Given the description of an element on the screen output the (x, y) to click on. 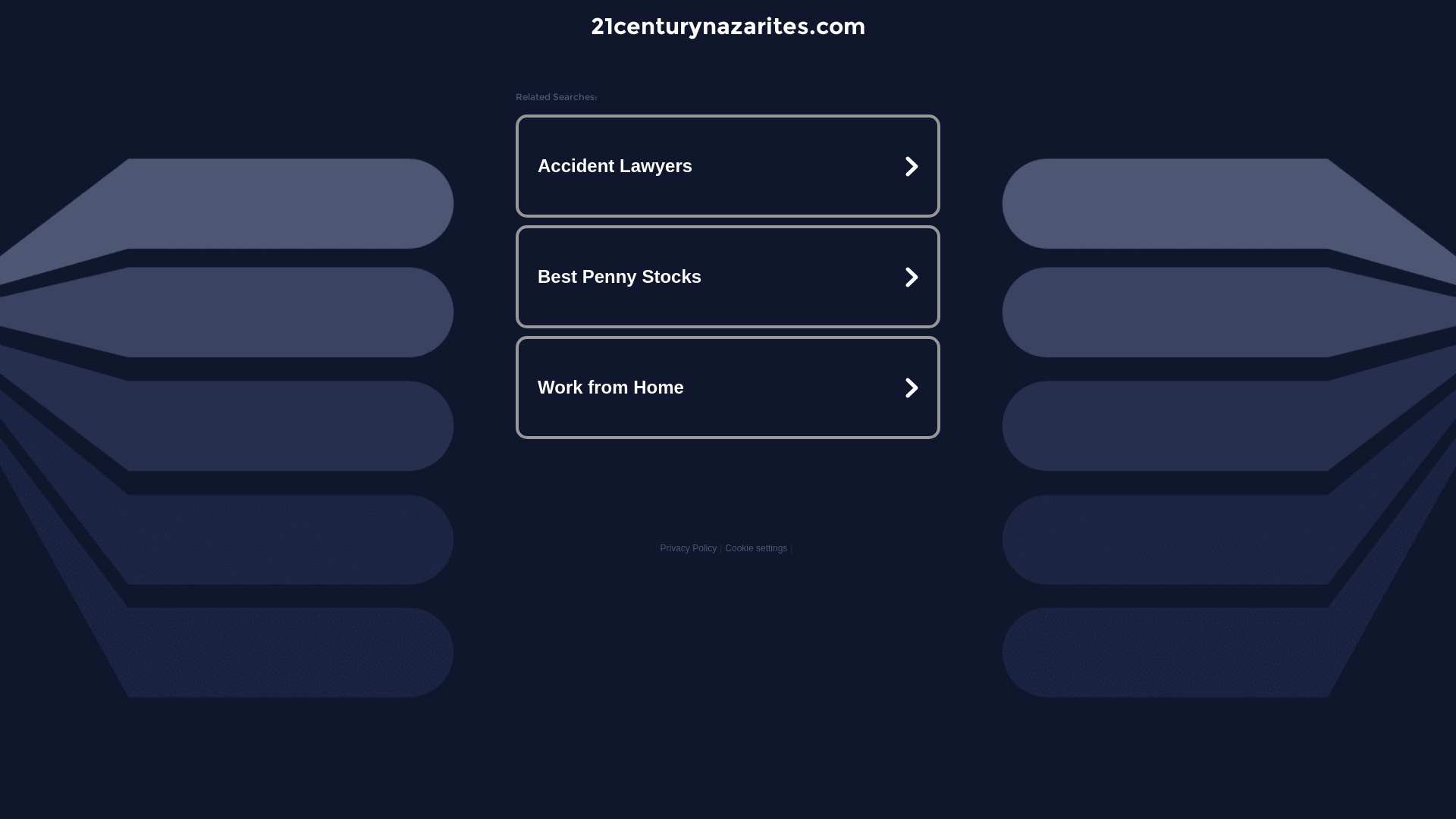
Accident Lawyers Element type: text (727, 165)
Work from Home Element type: text (727, 387)
Best Penny Stocks Element type: text (727, 276)
Privacy Policy Element type: text (687, 547)
21centurynazarites.com Element type: text (727, 26)
Cookie settings Element type: text (755, 547)
